Given the description of an element on the screen output the (x, y) to click on. 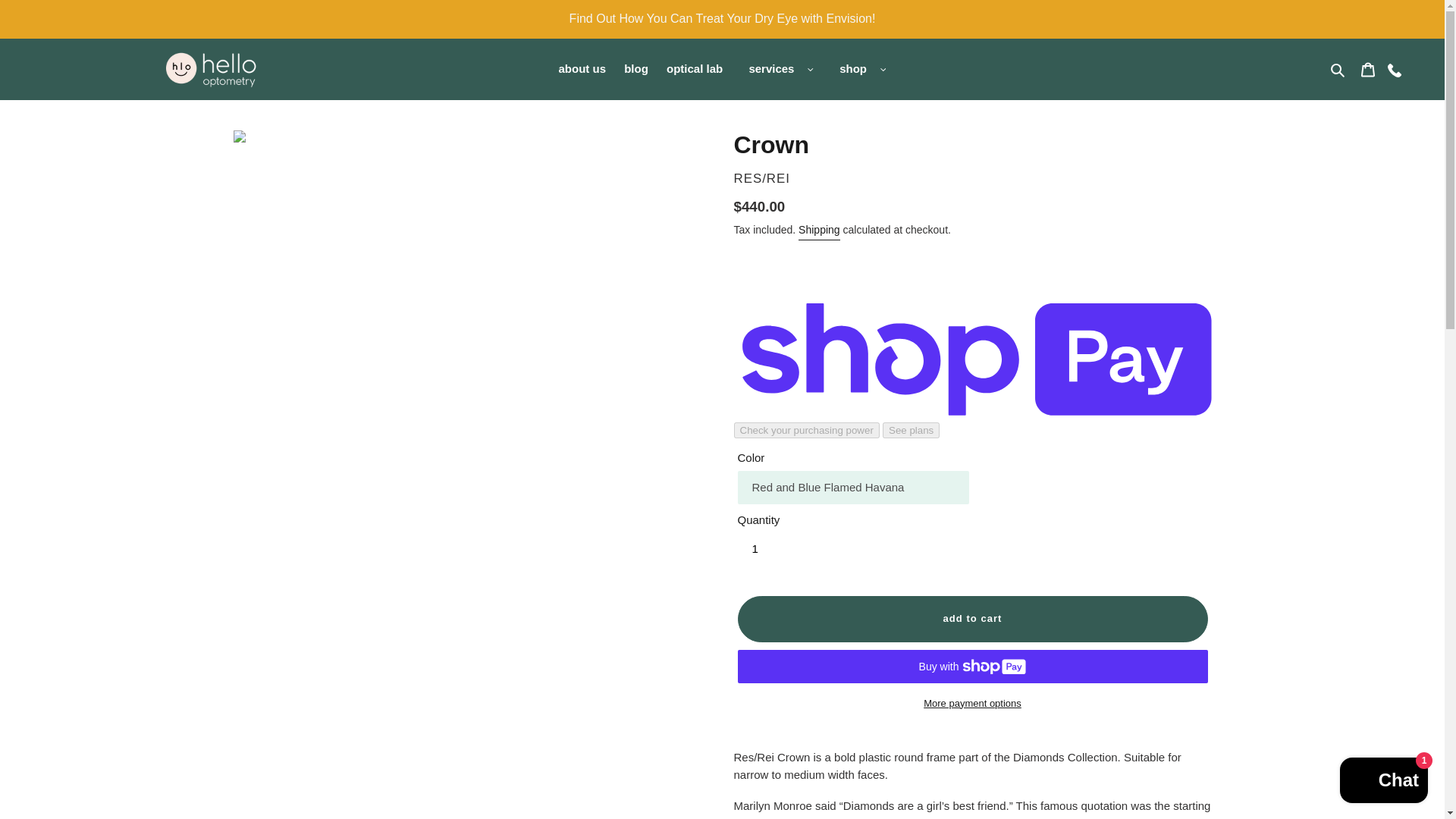
shop (853, 67)
Find Out How You Can Treat Your Dry Eye with Envision! (721, 18)
1 (766, 548)
about us (582, 69)
optical lab (694, 69)
services (777, 69)
services (771, 67)
shop (858, 69)
Shopify online store chat (1383, 781)
blog (635, 69)
